Given the description of an element on the screen output the (x, y) to click on. 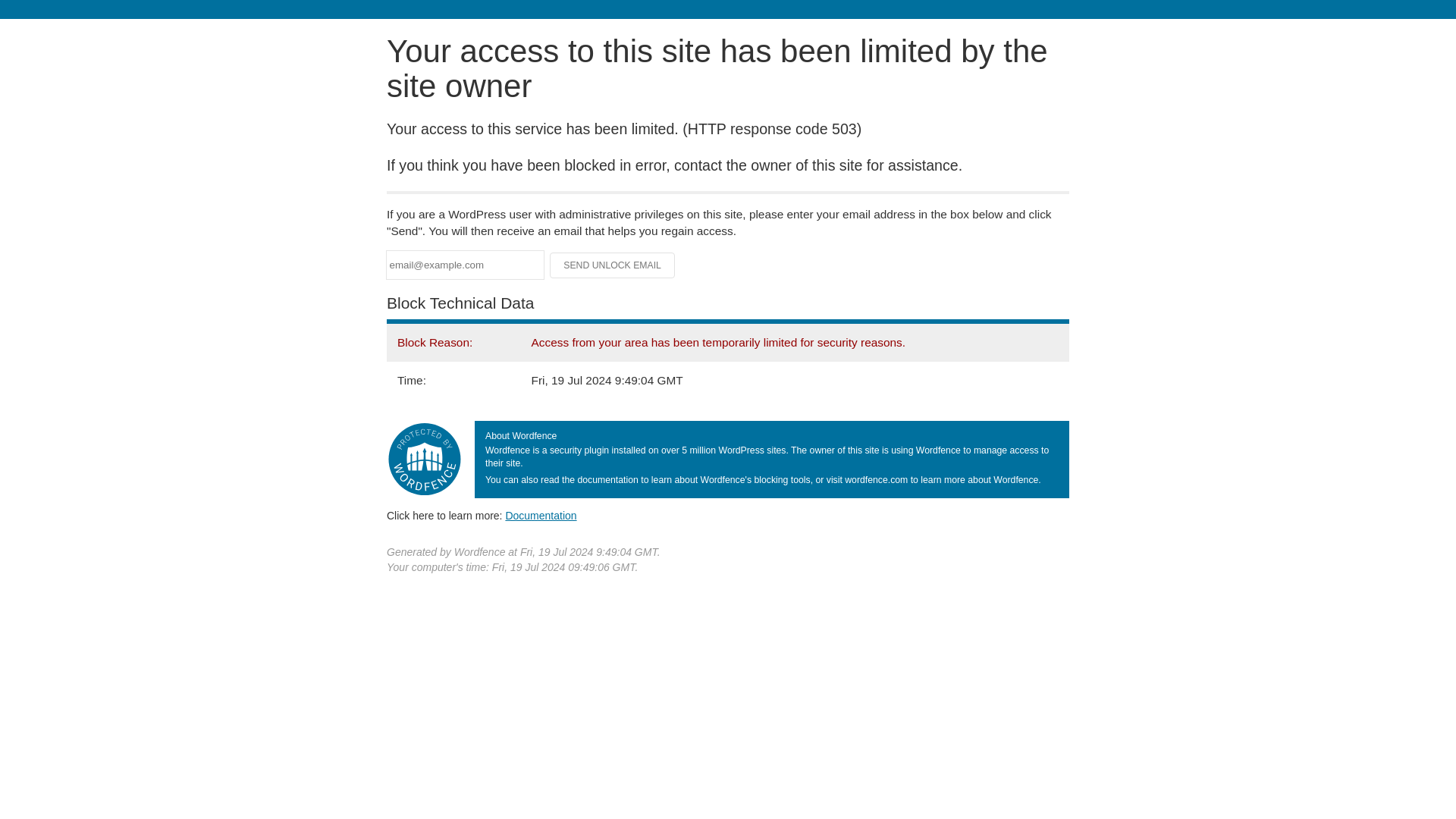
Documentation (540, 515)
Send Unlock Email (612, 265)
Send Unlock Email (612, 265)
